Given the description of an element on the screen output the (x, y) to click on. 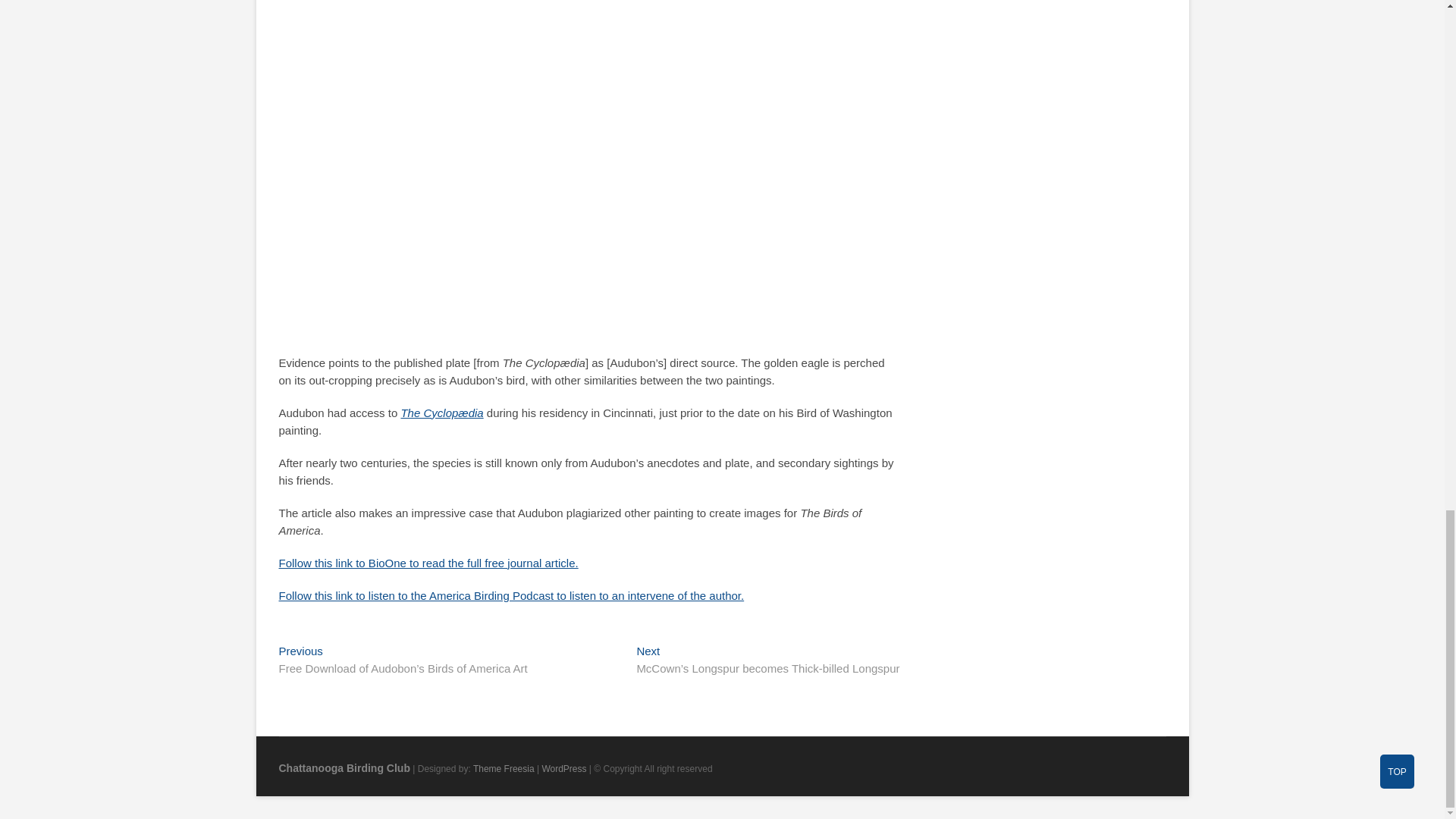
WordPress (563, 768)
Chattanooga Birding Club (344, 767)
Chattanooga Birding Club (344, 767)
Theme Freesia (503, 768)
Theme Freesia (503, 768)
WordPress (563, 768)
